Given the description of an element on the screen output the (x, y) to click on. 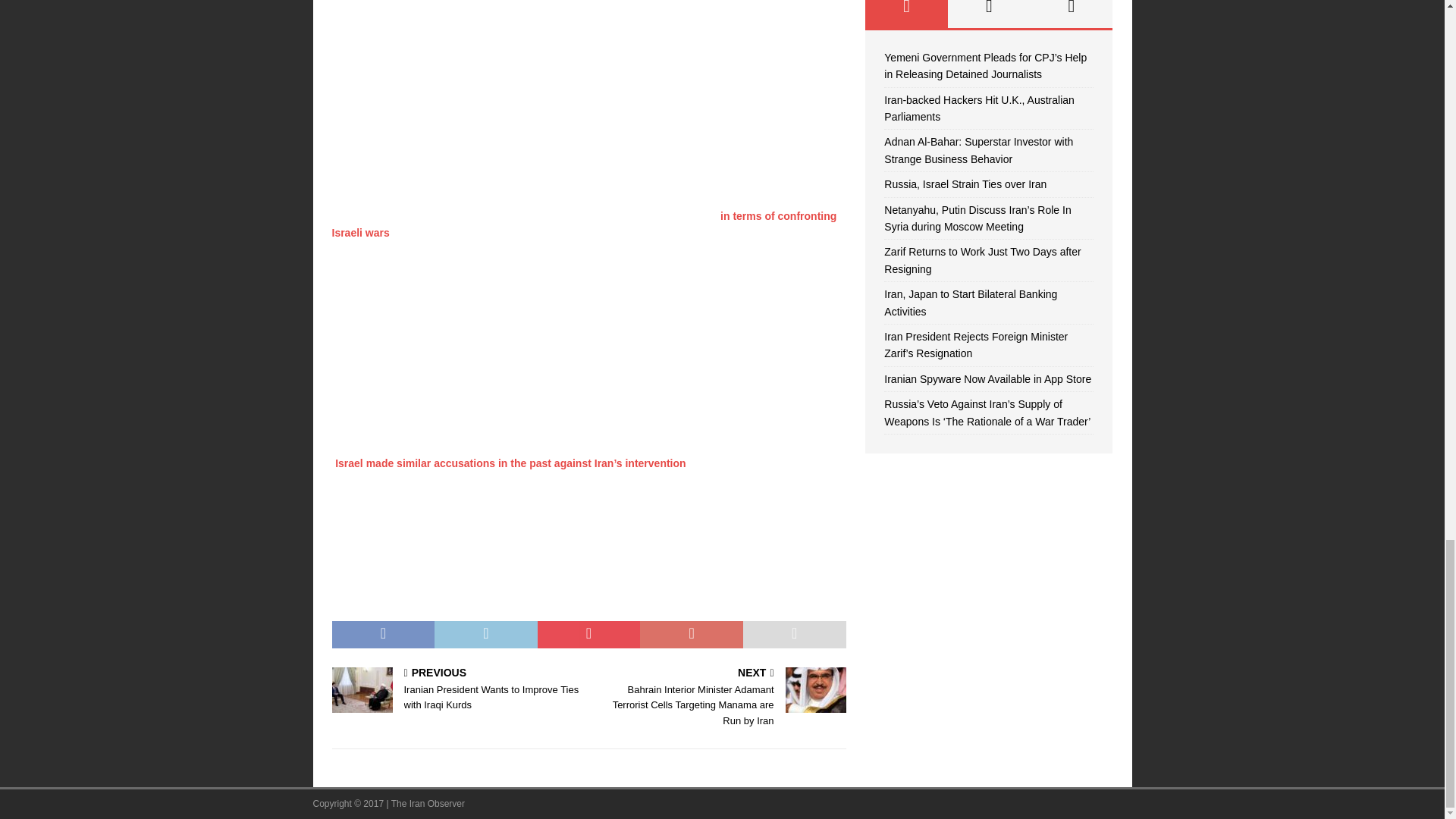
in terms of confronting Israeli wars (584, 224)
